Given the description of an element on the screen output the (x, y) to click on. 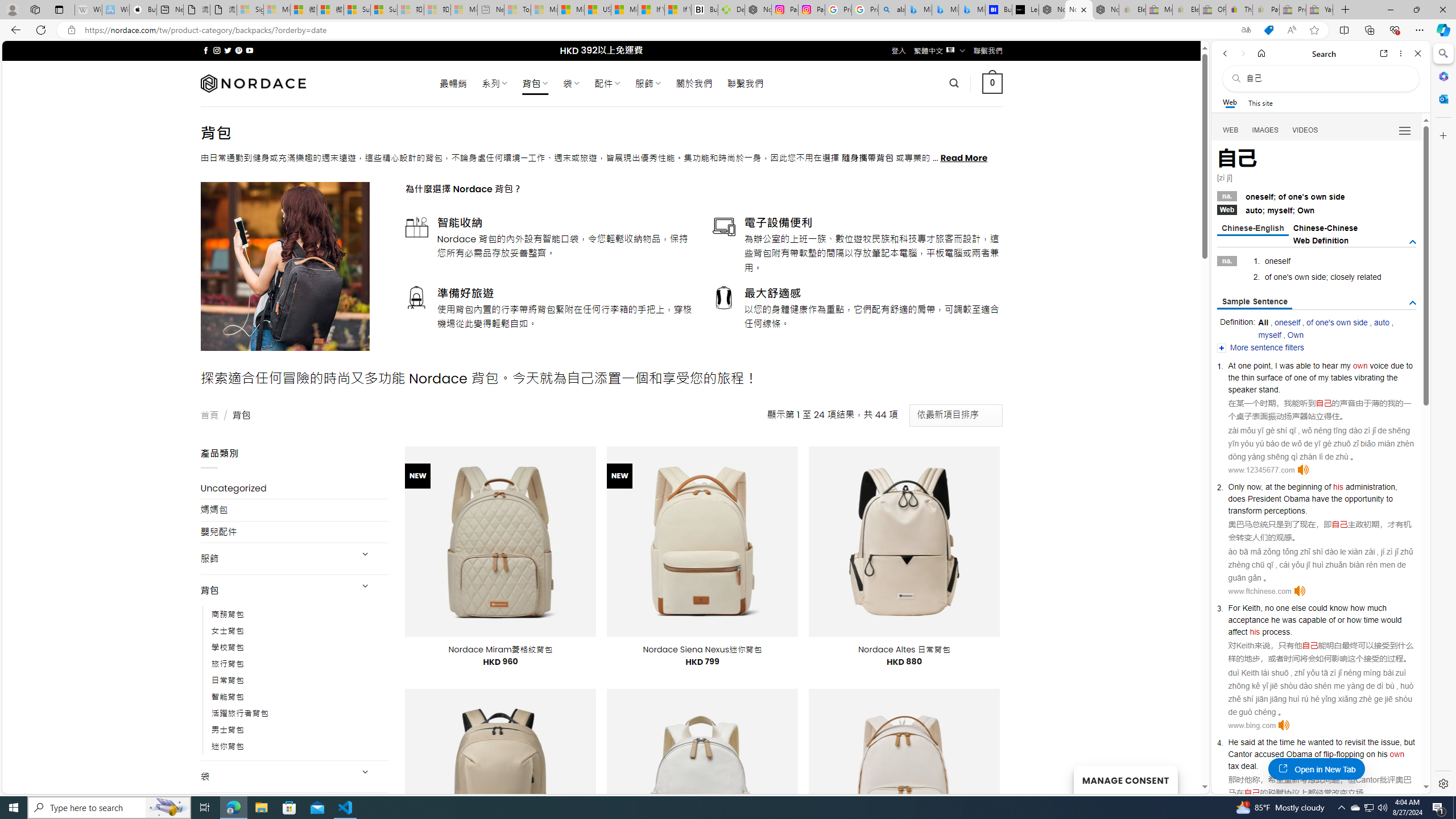
MANAGE CONSENT (1125, 779)
oneself (1287, 322)
Only (1235, 486)
 0  (992, 83)
